Given the description of an element on the screen output the (x, y) to click on. 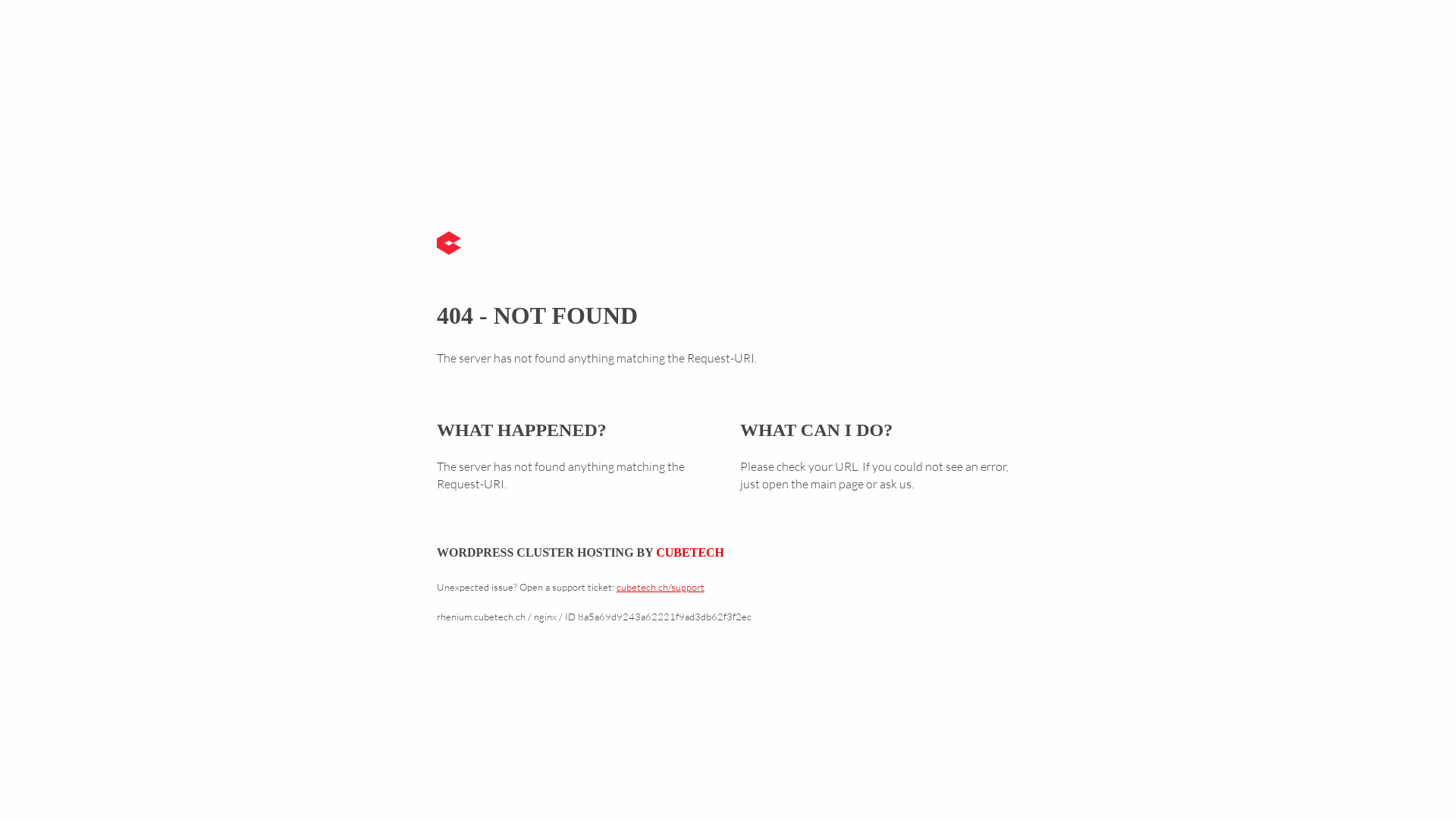
cubetech.ch/support Element type: text (660, 586)
CUBETECH Element type: text (689, 552)
